Given the description of an element on the screen output the (x, y) to click on. 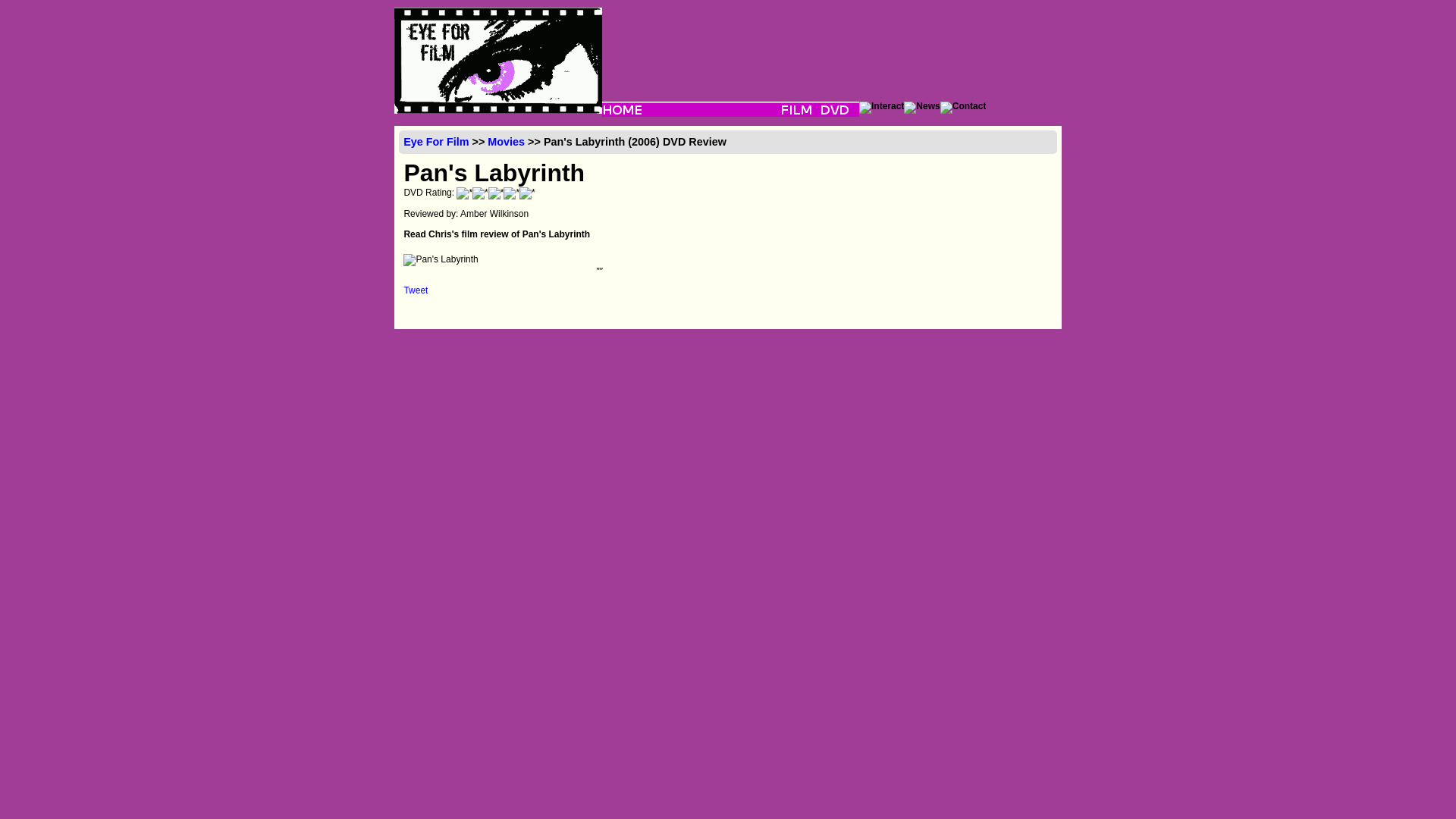
Movies (505, 141)
Eye For Film (435, 141)
Tweet (415, 290)
Read Chris's film review of Pan's Labyrinth (496, 234)
